Given the description of an element on the screen output the (x, y) to click on. 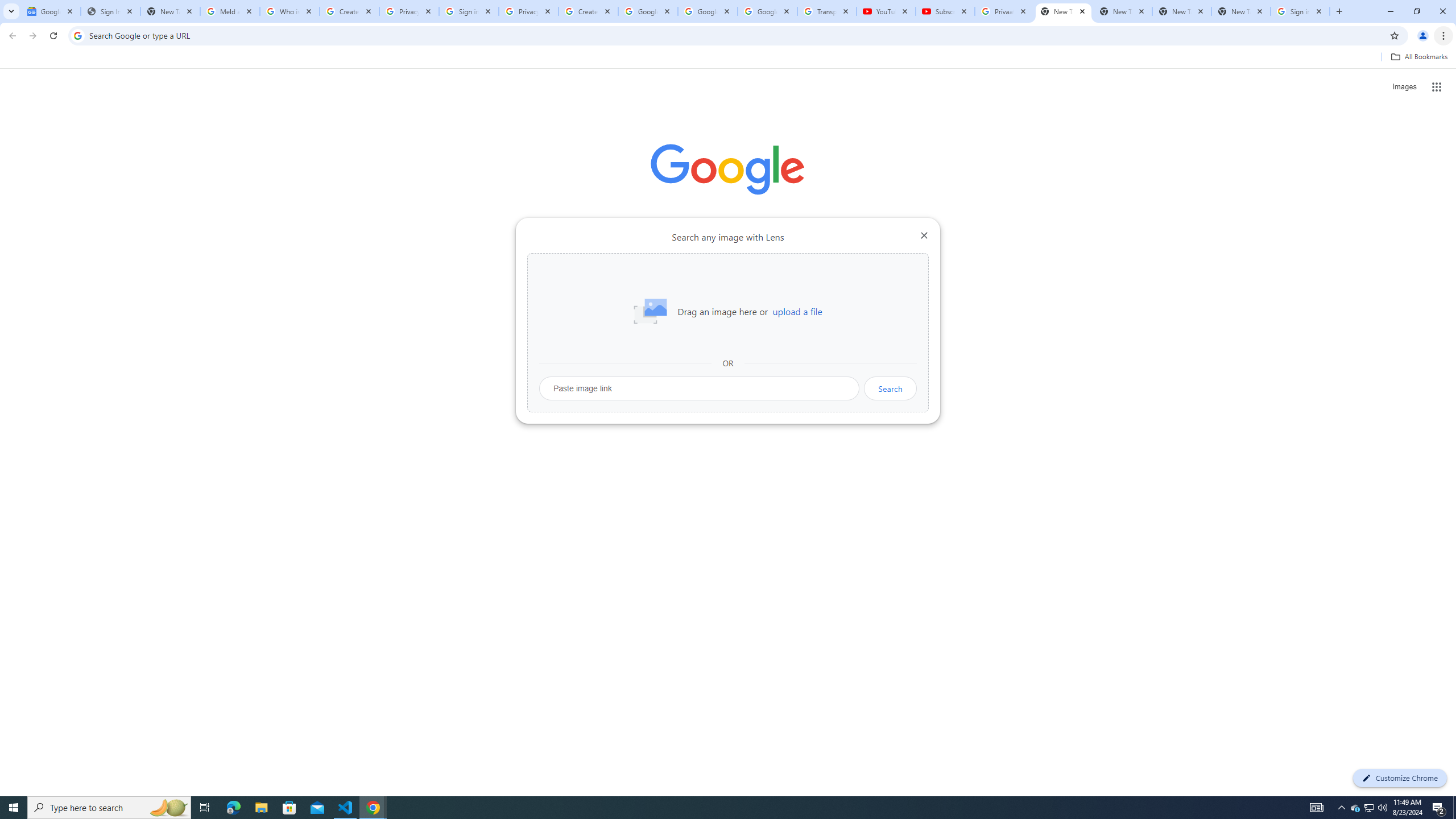
Google Account (767, 11)
Sign in - Google Accounts (468, 11)
Sign In - USA TODAY (110, 11)
Paste image link (699, 388)
Sign in - Google Accounts (1300, 11)
Chrome Web Store (663, 287)
